Given the description of an element on the screen output the (x, y) to click on. 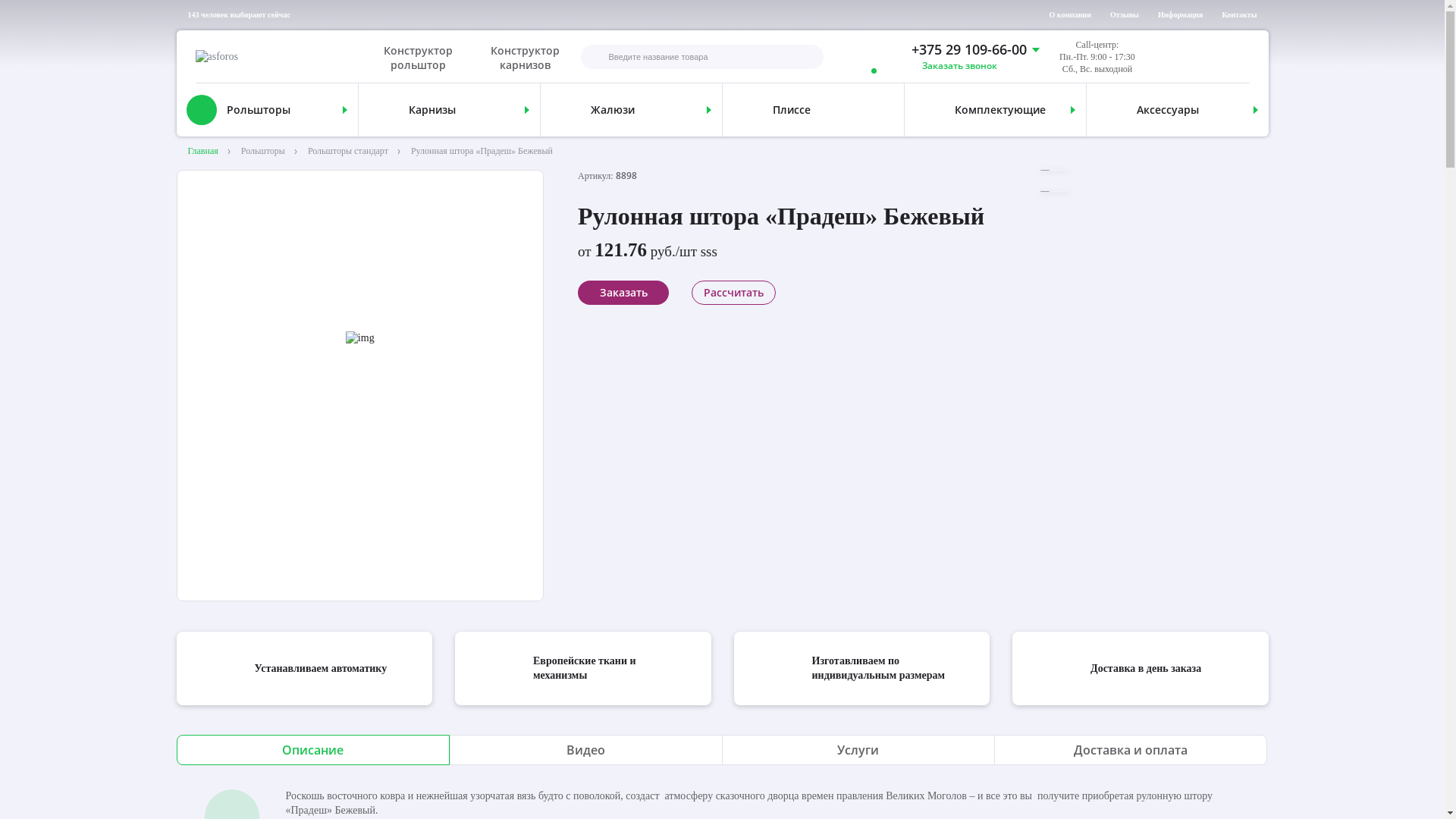
+375 29 109-66-00 Element type: text (958, 49)
